Given the description of an element on the screen output the (x, y) to click on. 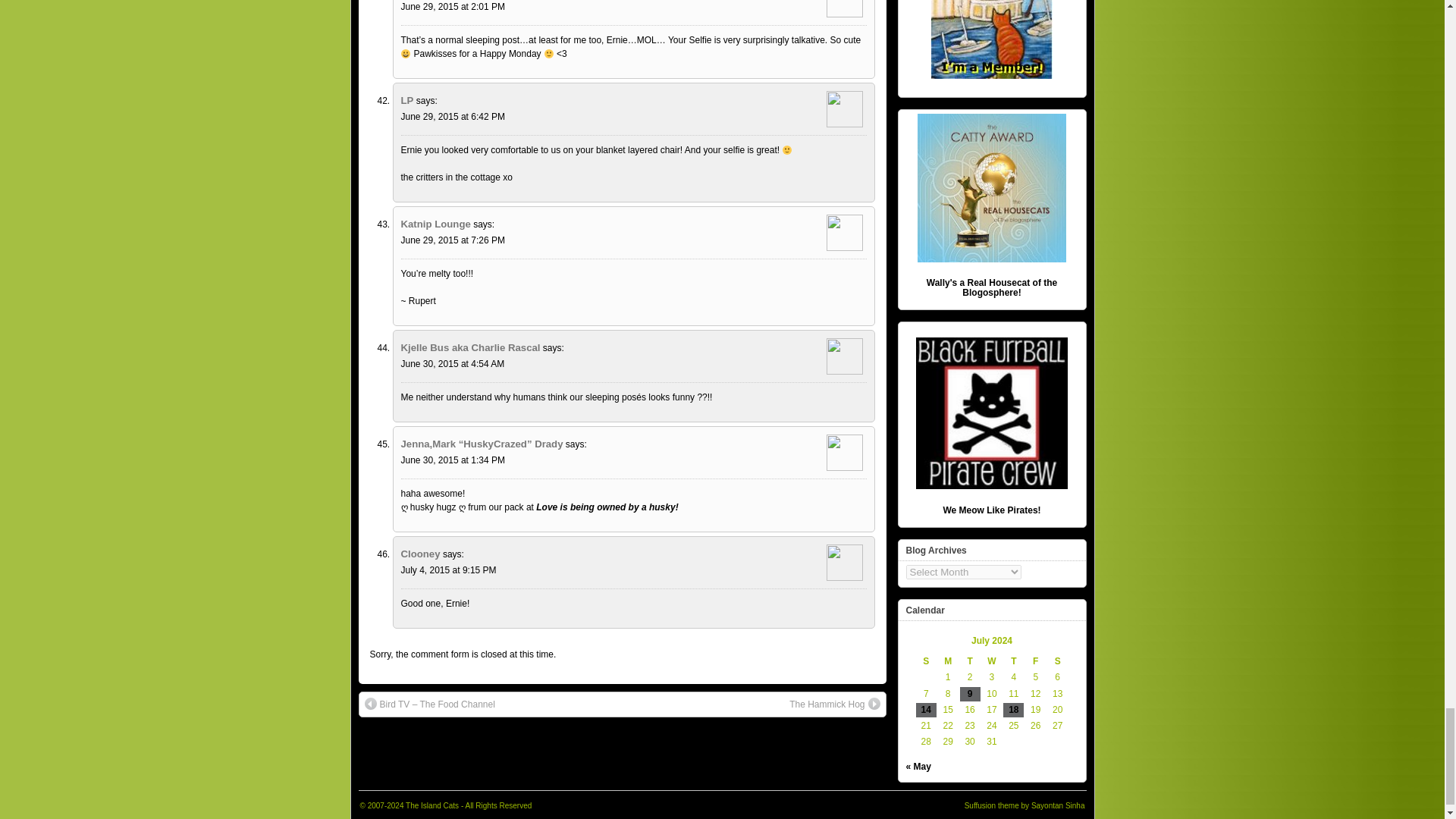
Sunday (925, 661)
catty award (991, 187)
island-catbadge (991, 39)
